Given the description of an element on the screen output the (x, y) to click on. 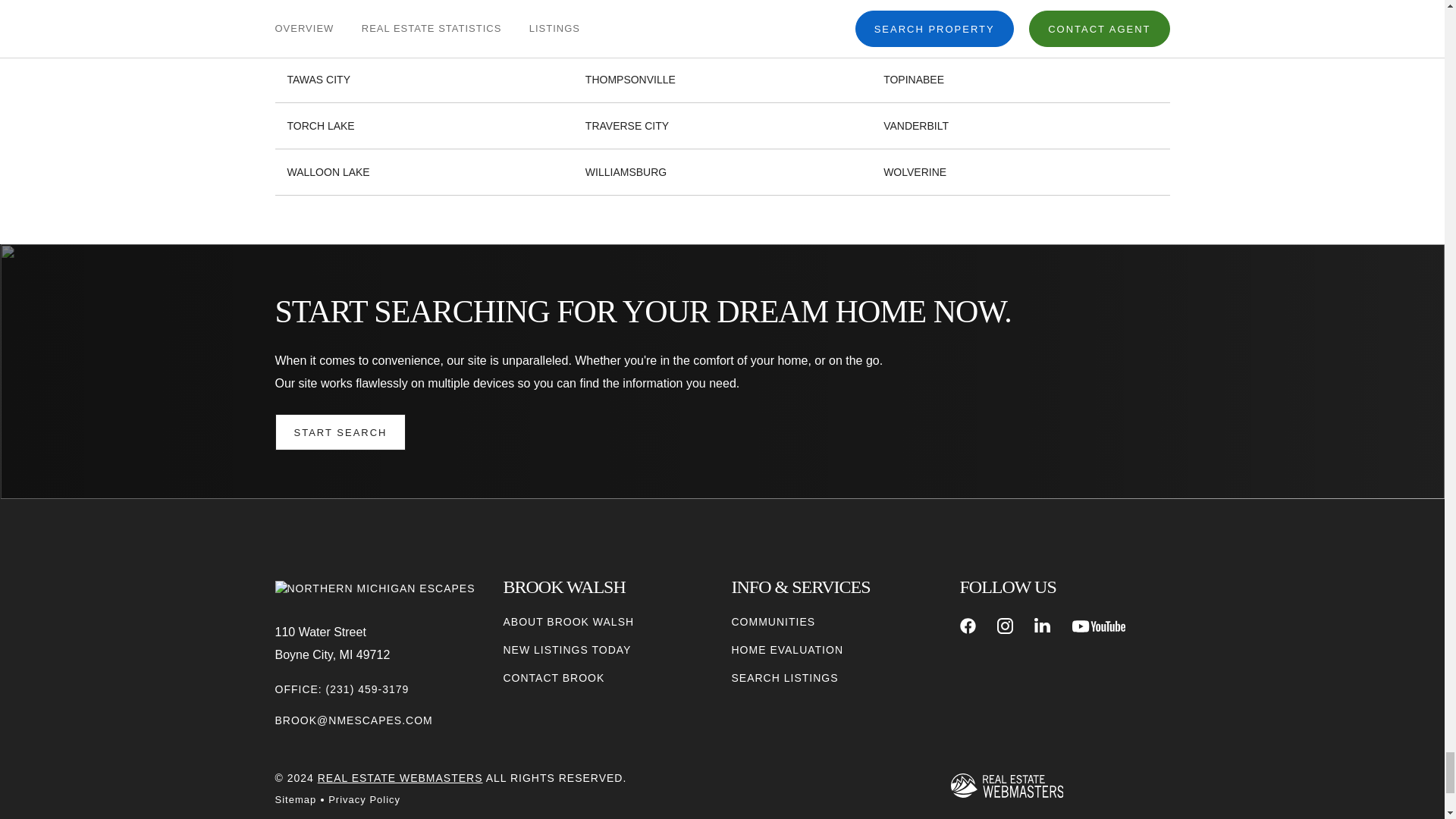
LINKEDIN (1041, 625)
FACEBOOK (967, 625)
YOUTUBE (1098, 626)
